Given the description of an element on the screen output the (x, y) to click on. 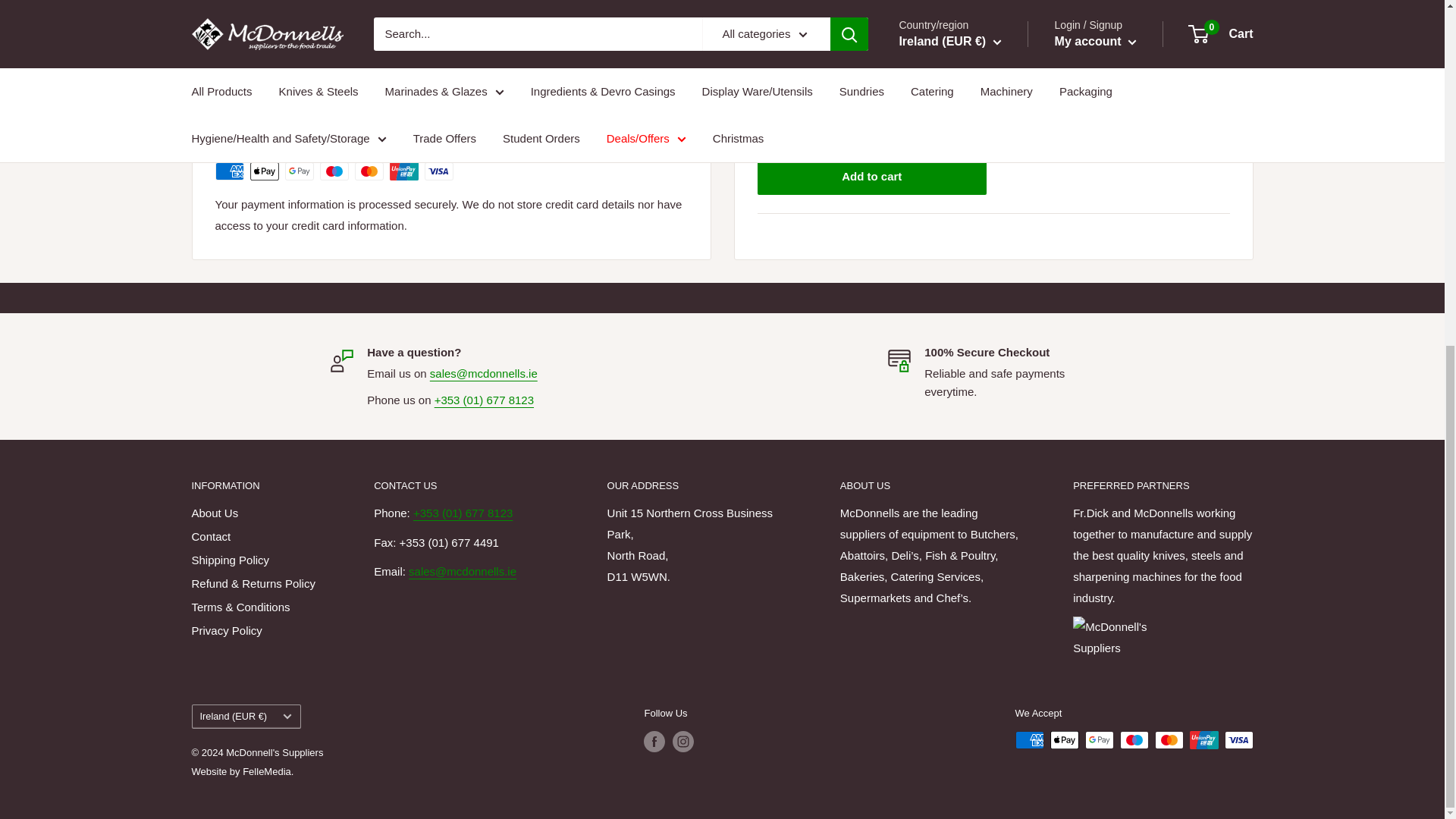
FelleMedia: E-commerce Solutions (242, 771)
